Given the description of an element on the screen output the (x, y) to click on. 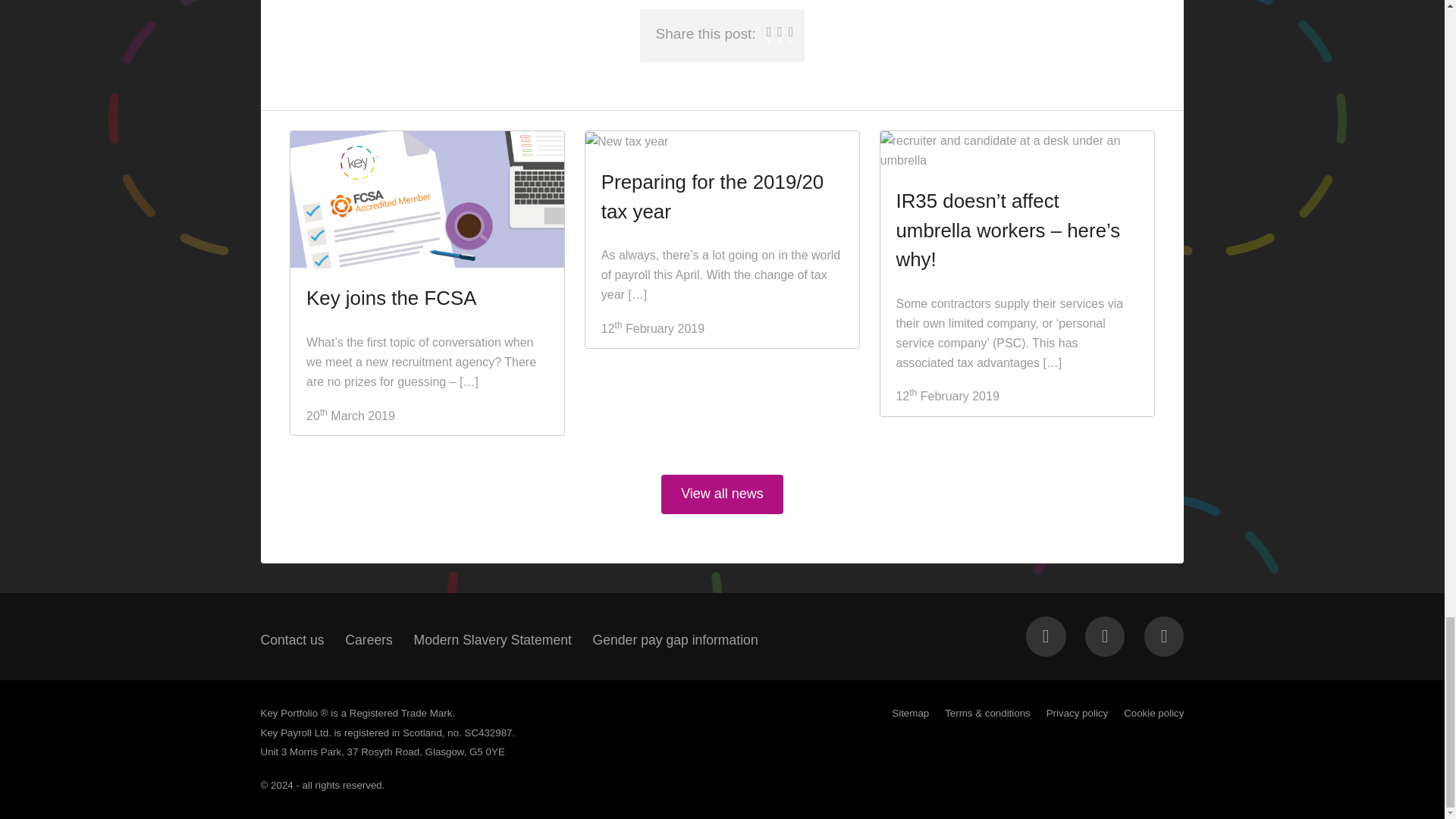
Privacy policy (1077, 713)
Contact us (292, 639)
Sitemap (909, 713)
Careers (369, 639)
Gender pay gap information (675, 639)
View all news (722, 494)
Modern Slavery Statement (492, 639)
Cookie policy (1153, 713)
